Given the description of an element on the screen output the (x, y) to click on. 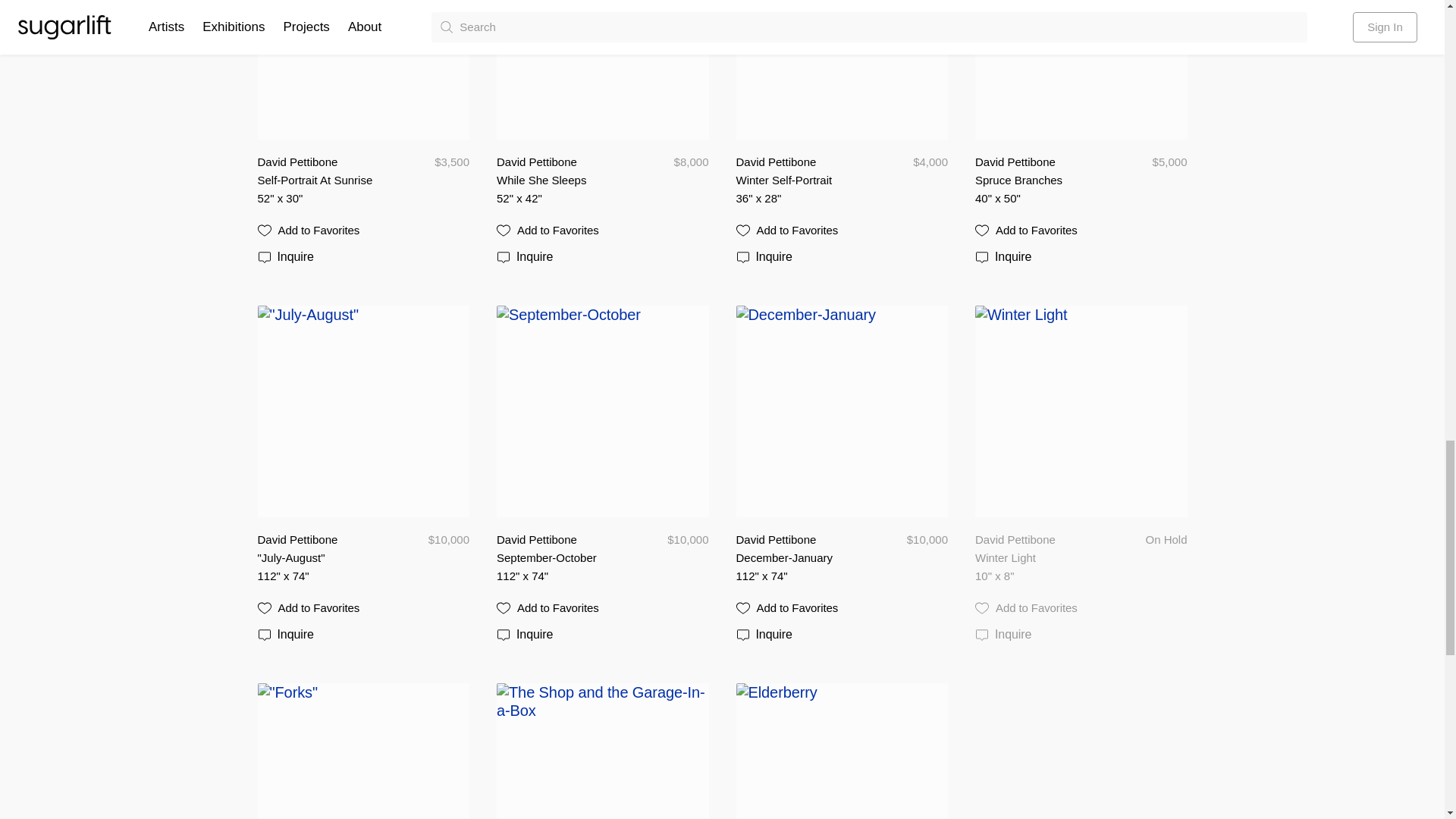
Winter Self-Portrait (803, 180)
December-January (803, 557)
Spruce Branches (1043, 180)
September-October (564, 557)
While She Sleeps (564, 180)
Self-Portrait At Sunrise (330, 180)
Winter Light (1043, 557)
"July-August" (325, 557)
